Given the description of an element on the screen output the (x, y) to click on. 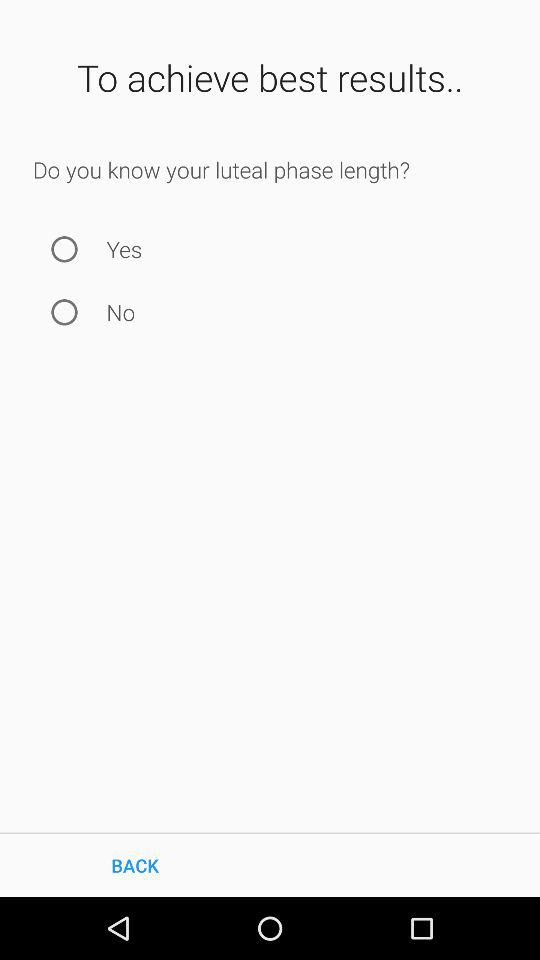
select icon to the left of the yes item (64, 248)
